Given the description of an element on the screen output the (x, y) to click on. 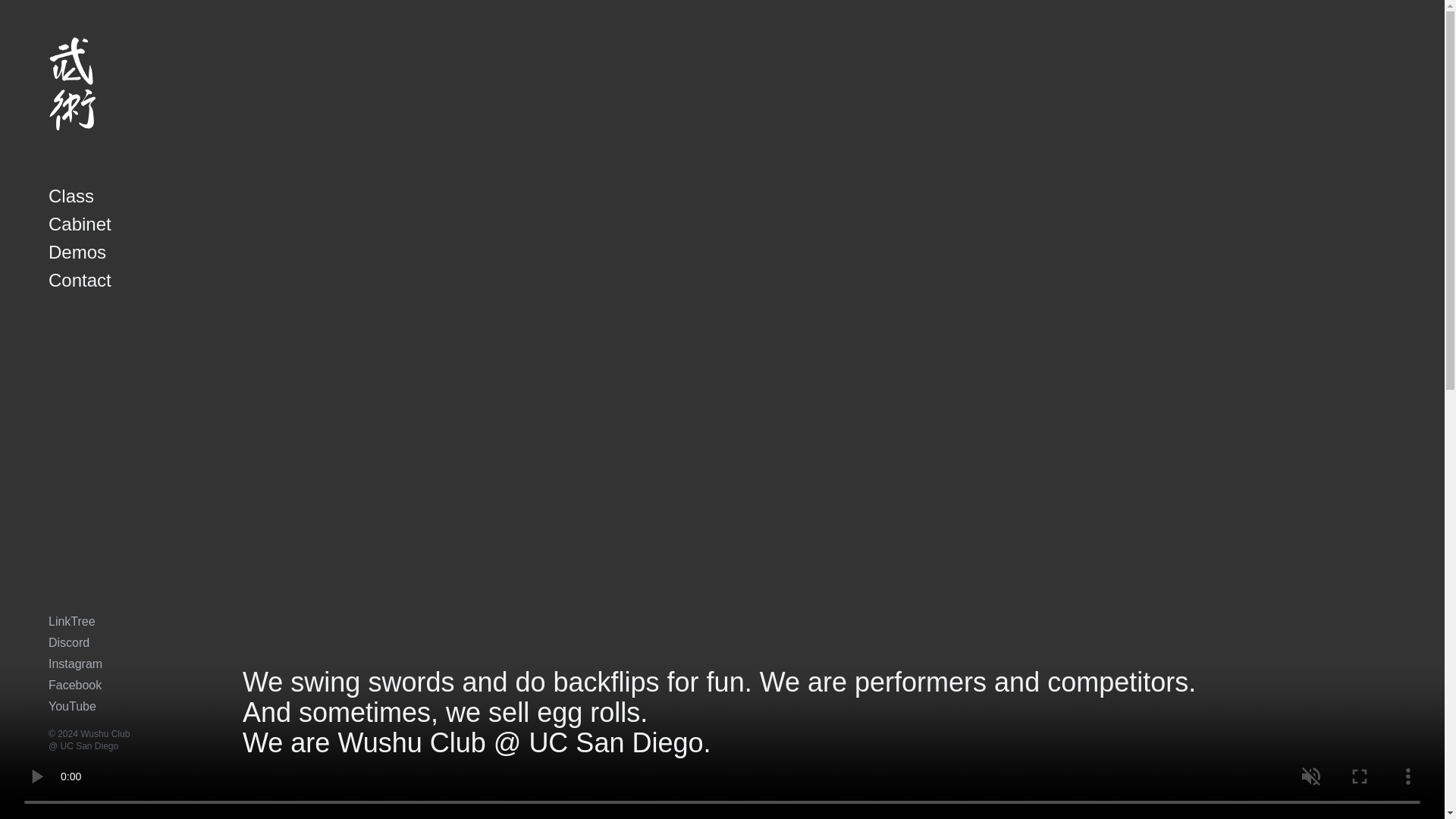
Contact (80, 280)
LinkTree (72, 621)
YouTube (72, 706)
Discord (68, 642)
Facebook (74, 684)
Demos (77, 252)
Instagram (74, 663)
Class (71, 196)
Cabinet (80, 224)
